Given the description of an element on the screen output the (x, y) to click on. 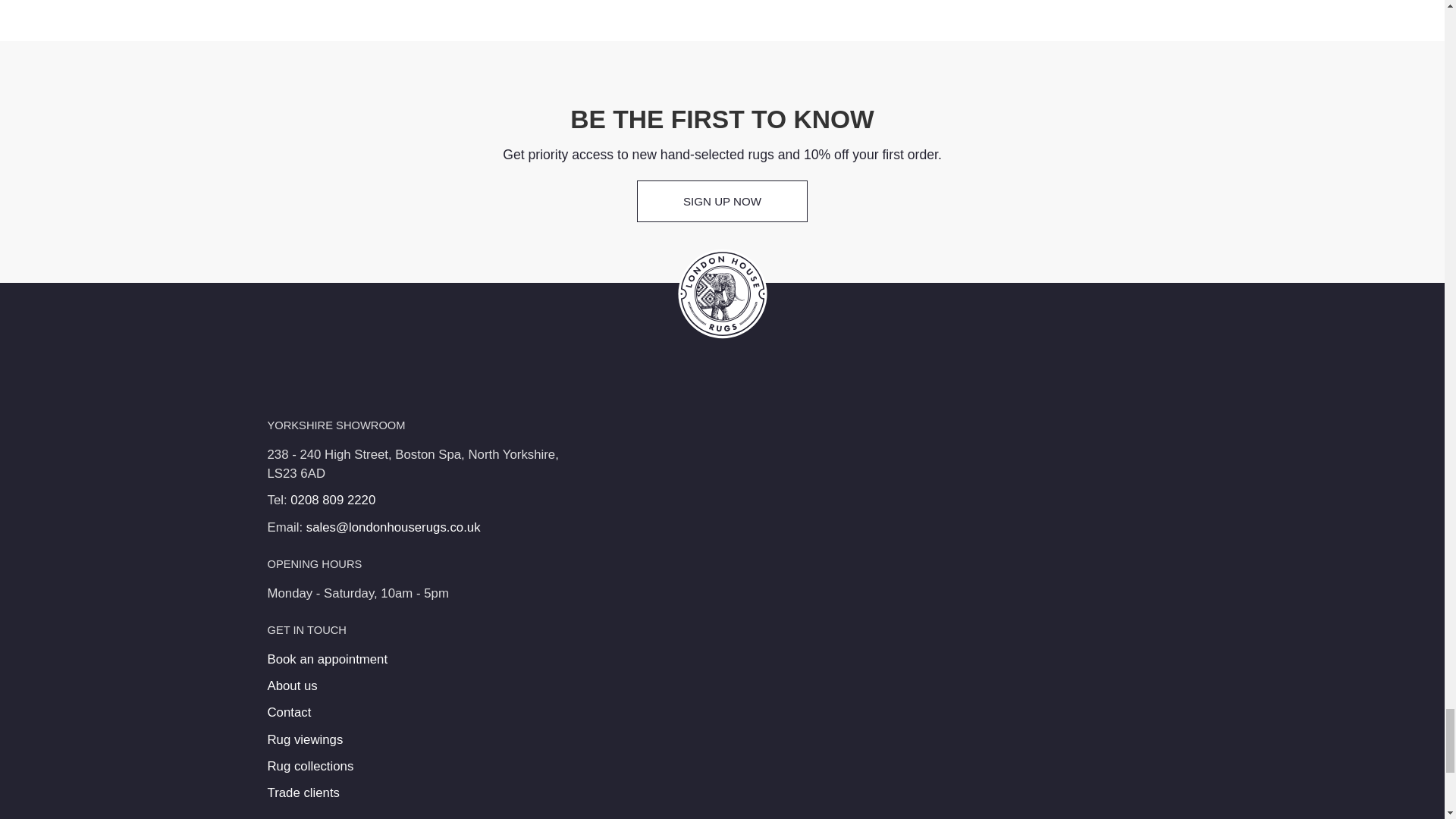
London House Rugs (722, 293)
